Given the description of an element on the screen output the (x, y) to click on. 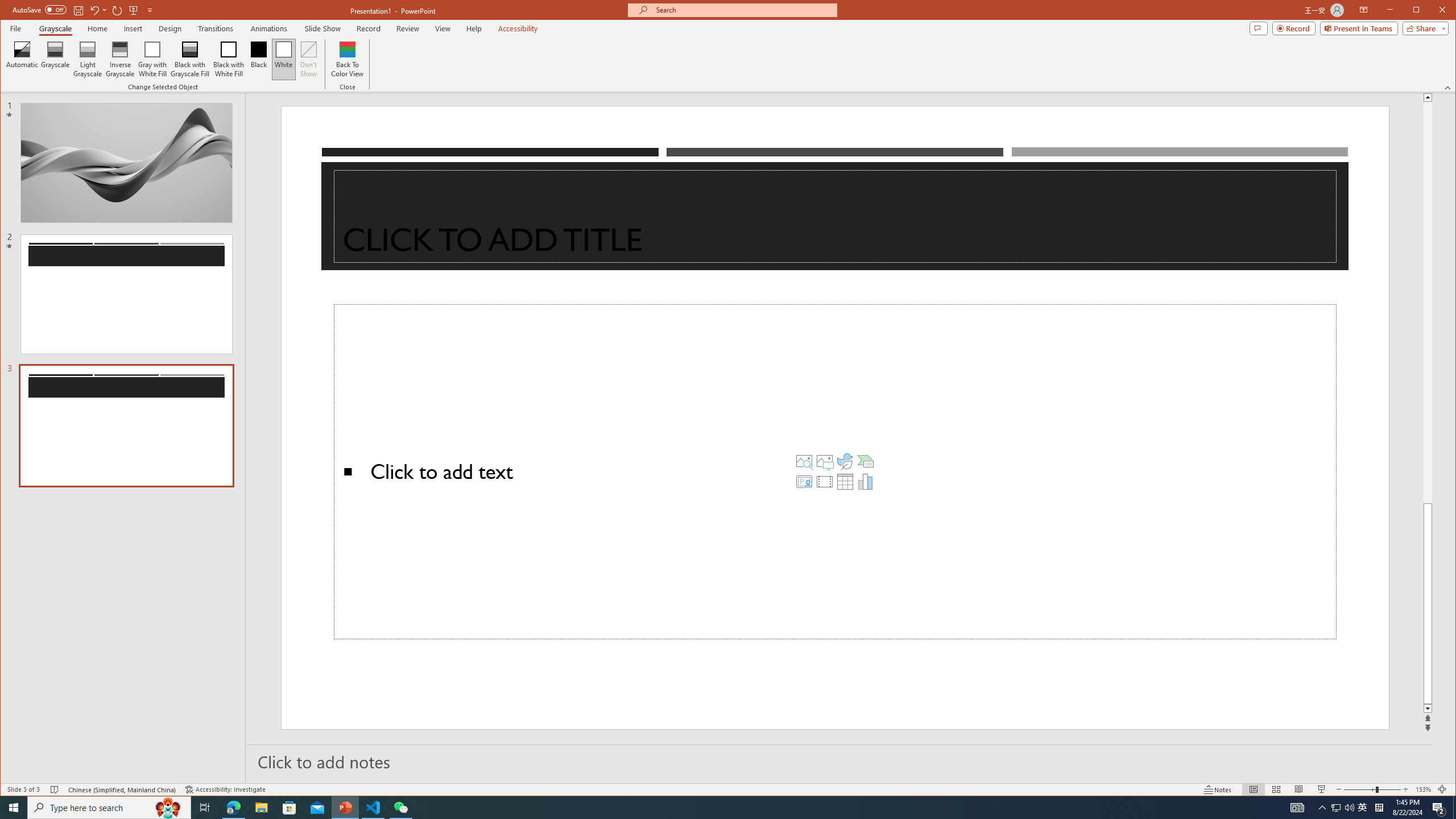
WeChat - 1 running window (400, 807)
Stock Images (803, 461)
Back To Color View (347, 59)
